Given the description of an element on the screen output the (x, y) to click on. 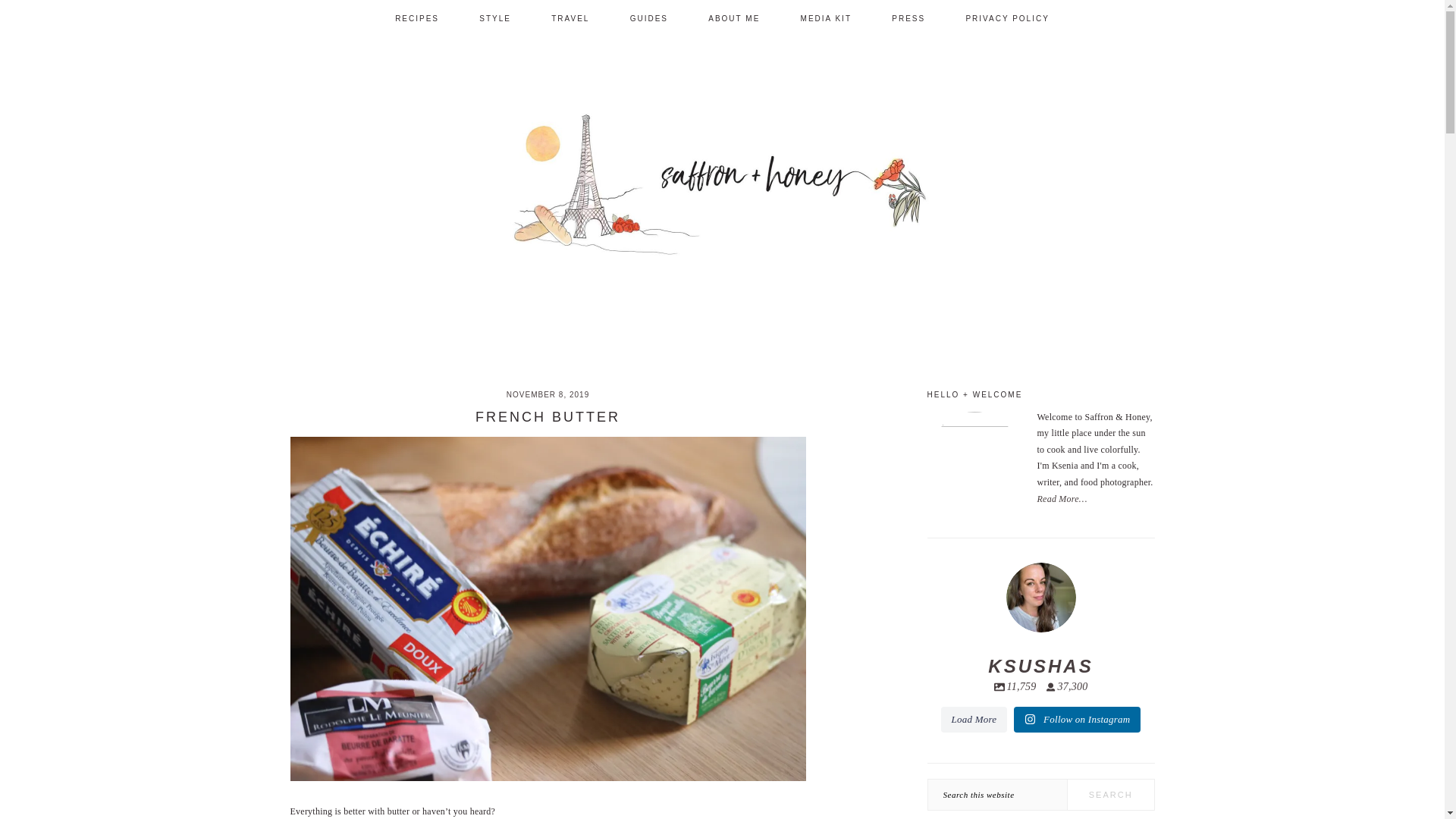
MEDIA KIT (1040, 627)
SAFFRON AND HONEY (825, 18)
Search (722, 193)
Skip to primary navigation (1110, 794)
RECIPES (733, 18)
STYLE (416, 18)
Search (494, 18)
GUIDES (1110, 794)
